Given the description of an element on the screen output the (x, y) to click on. 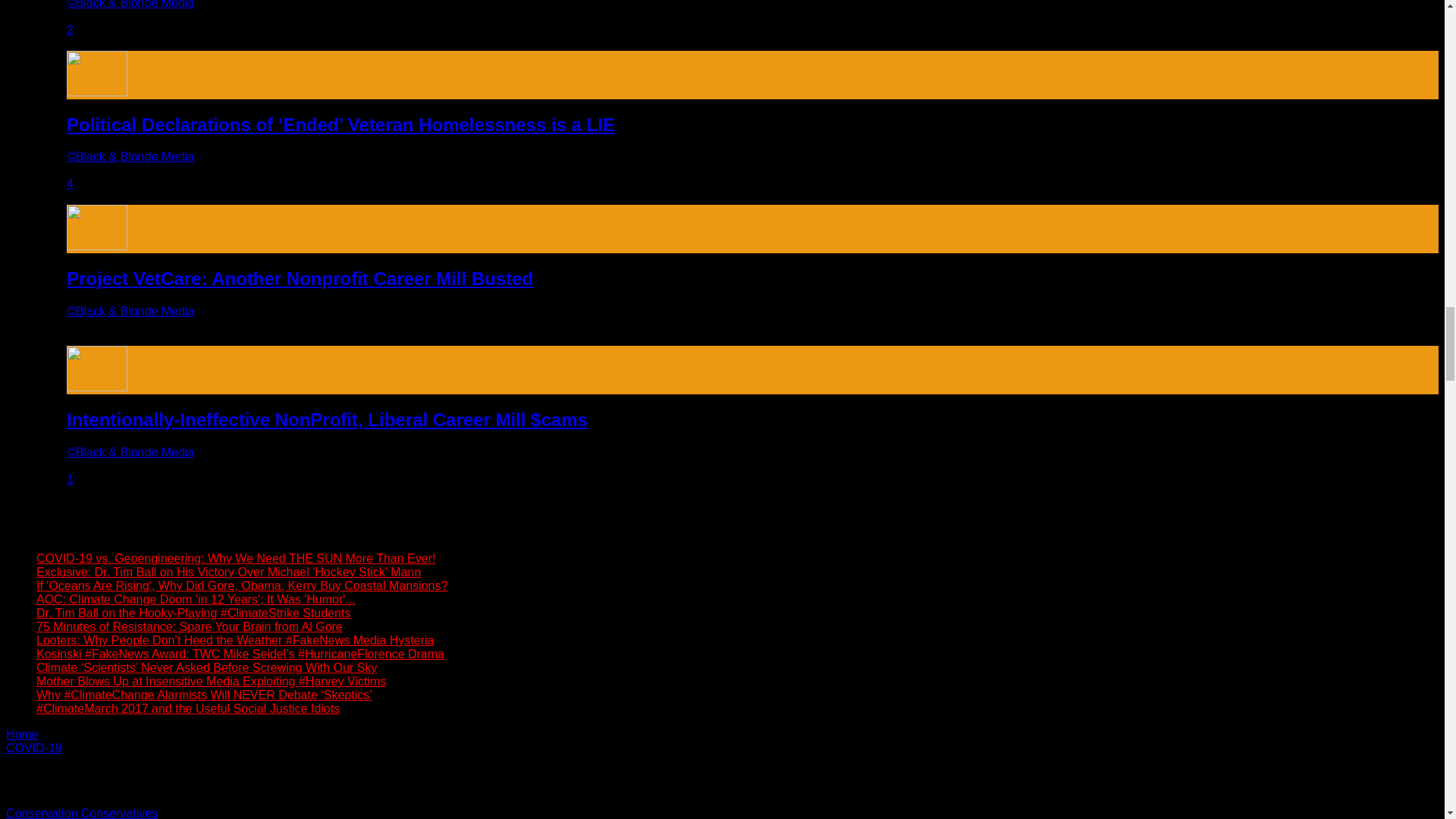
AOC: Climate Change Doom 'in 12 Years'; It Was 'Humor'... (195, 599)
75 Minutes of Resistance: Spare Your Brain from Al Gore (189, 626)
View all posts in COVID-19 (33, 748)
